Given the description of an element on the screen output the (x, y) to click on. 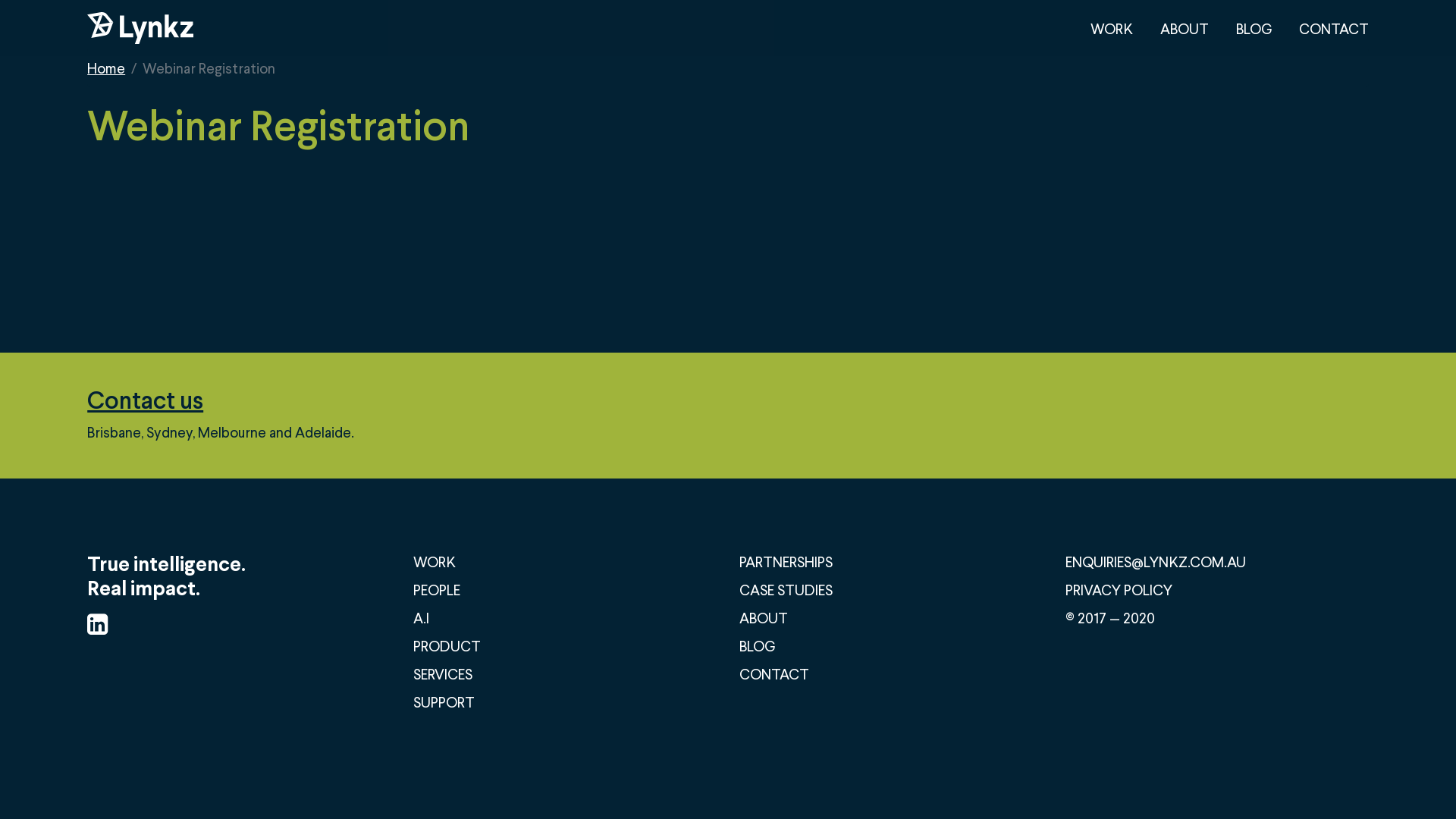
CASE STUDIES Element type: text (785, 589)
WORK Element type: text (434, 561)
Home Element type: text (106, 67)
BLOG Element type: text (757, 645)
PEOPLE Element type: text (436, 589)
BLOG Element type: text (1253, 28)
WORK Element type: text (1111, 28)
SERVICES Element type: text (442, 673)
PRIVACY POLICY Element type: text (1118, 589)
A.I Element type: text (421, 617)
PARTNERSHIPS Element type: text (785, 561)
ABOUT Element type: text (763, 617)
ENQUIRIES@LYNKZ.COM.AU Element type: text (1155, 561)
Contact us Element type: text (220, 399)
CONTACT Element type: text (774, 673)
SUPPORT Element type: text (443, 701)
CONTACT Element type: text (1333, 28)
ABOUT Element type: text (1184, 28)
PRODUCT Element type: text (446, 645)
